Given the description of an element on the screen output the (x, y) to click on. 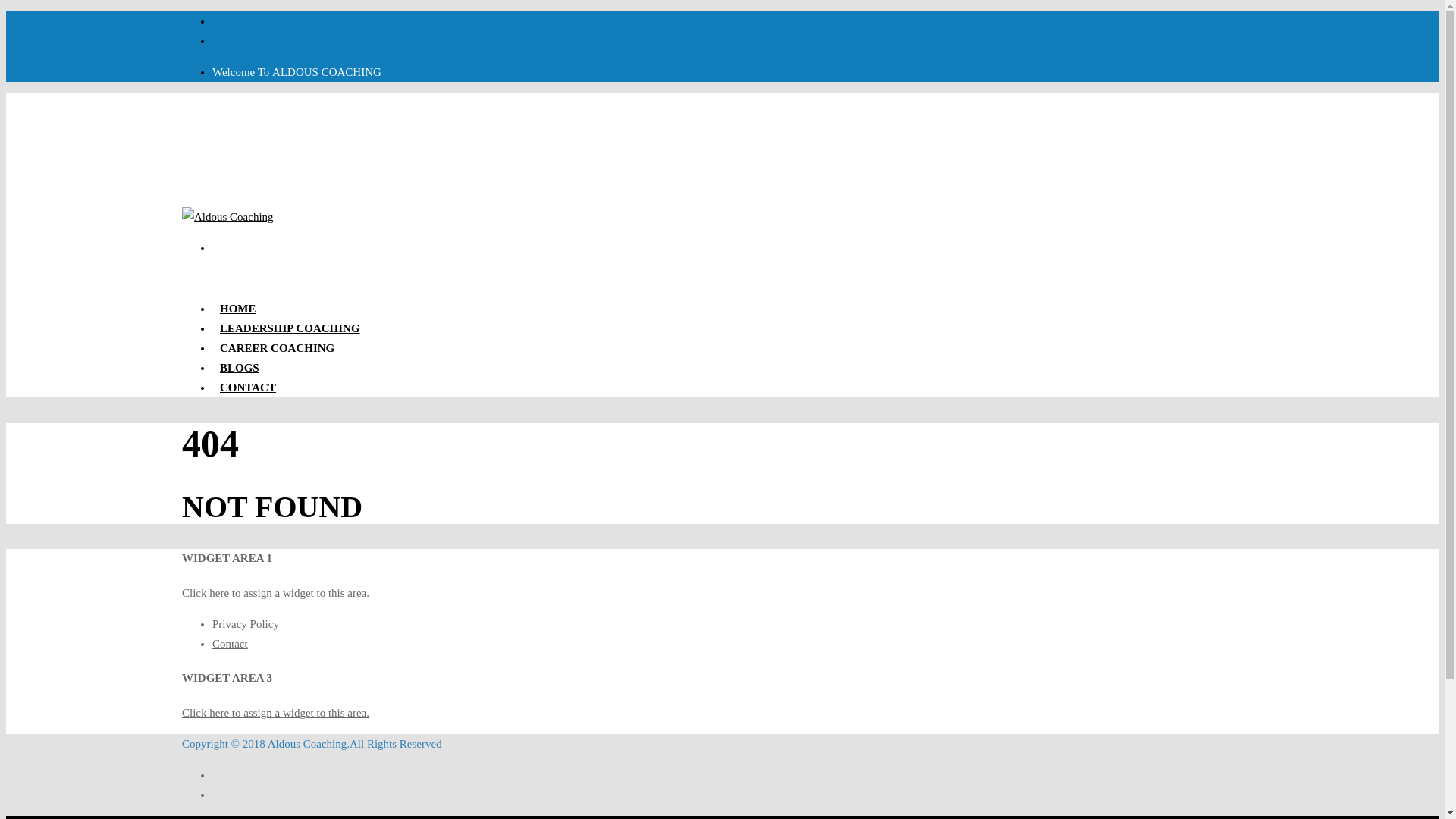
CAREER COACHING (277, 351)
Click here to assign a widget to this area. (275, 592)
Contact (229, 644)
Click here to assign a widget to this area. (275, 712)
Privacy Policy (296, 71)
CONTACT (245, 623)
LEADERSHIP COACHING (247, 391)
